Given the description of an element on the screen output the (x, y) to click on. 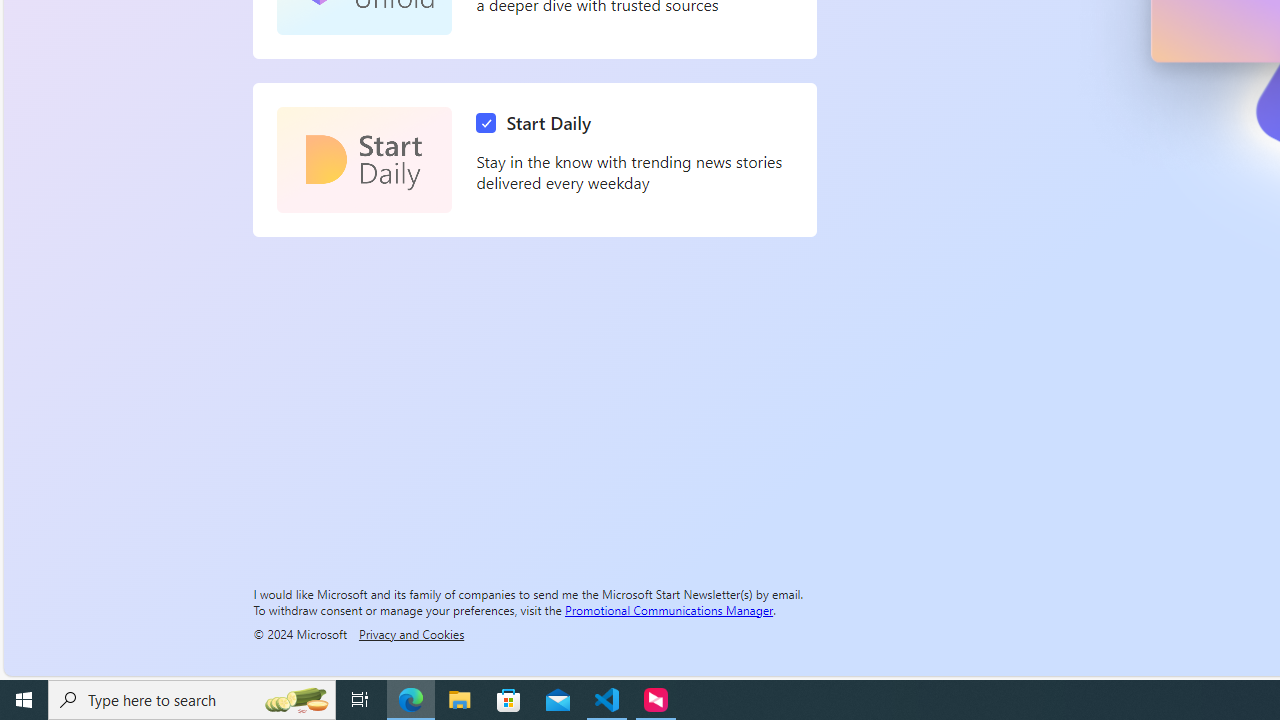
Privacy and Cookies (411, 633)
Start Daily (364, 160)
Promotional Communications Manager (669, 609)
Start Daily (538, 123)
